Given the description of an element on the screen output the (x, y) to click on. 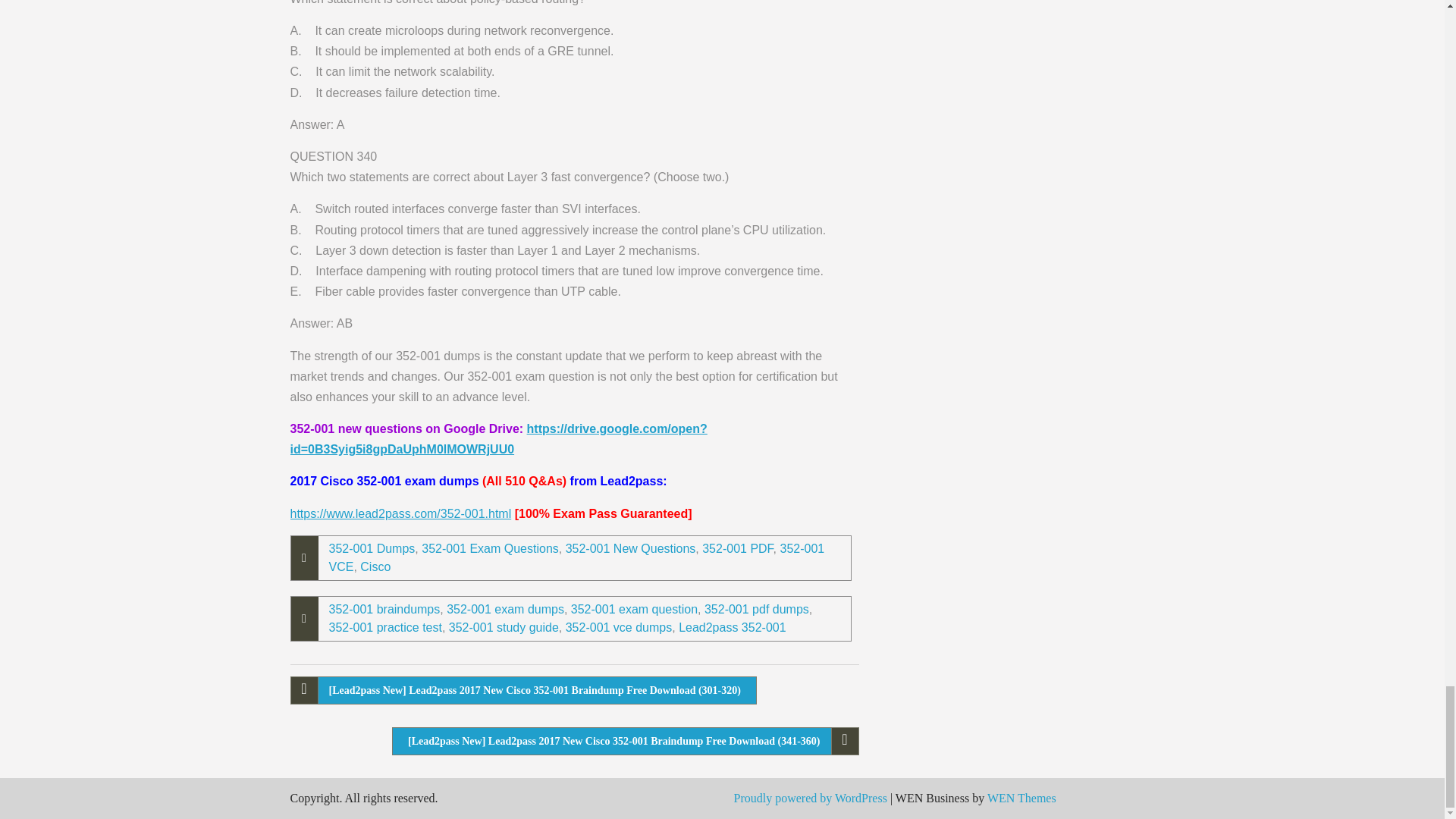
352-001 vce dumps (619, 626)
352-001 braindumps (385, 608)
352-001 exam dumps (505, 608)
352-001 practice test (385, 626)
352-001 Dumps (371, 548)
Cisco (374, 566)
352-001 New Questions (630, 548)
352-001 exam question (633, 608)
352-001 VCE (577, 557)
352-001 pdf dumps (756, 608)
